Given the description of an element on the screen output the (x, y) to click on. 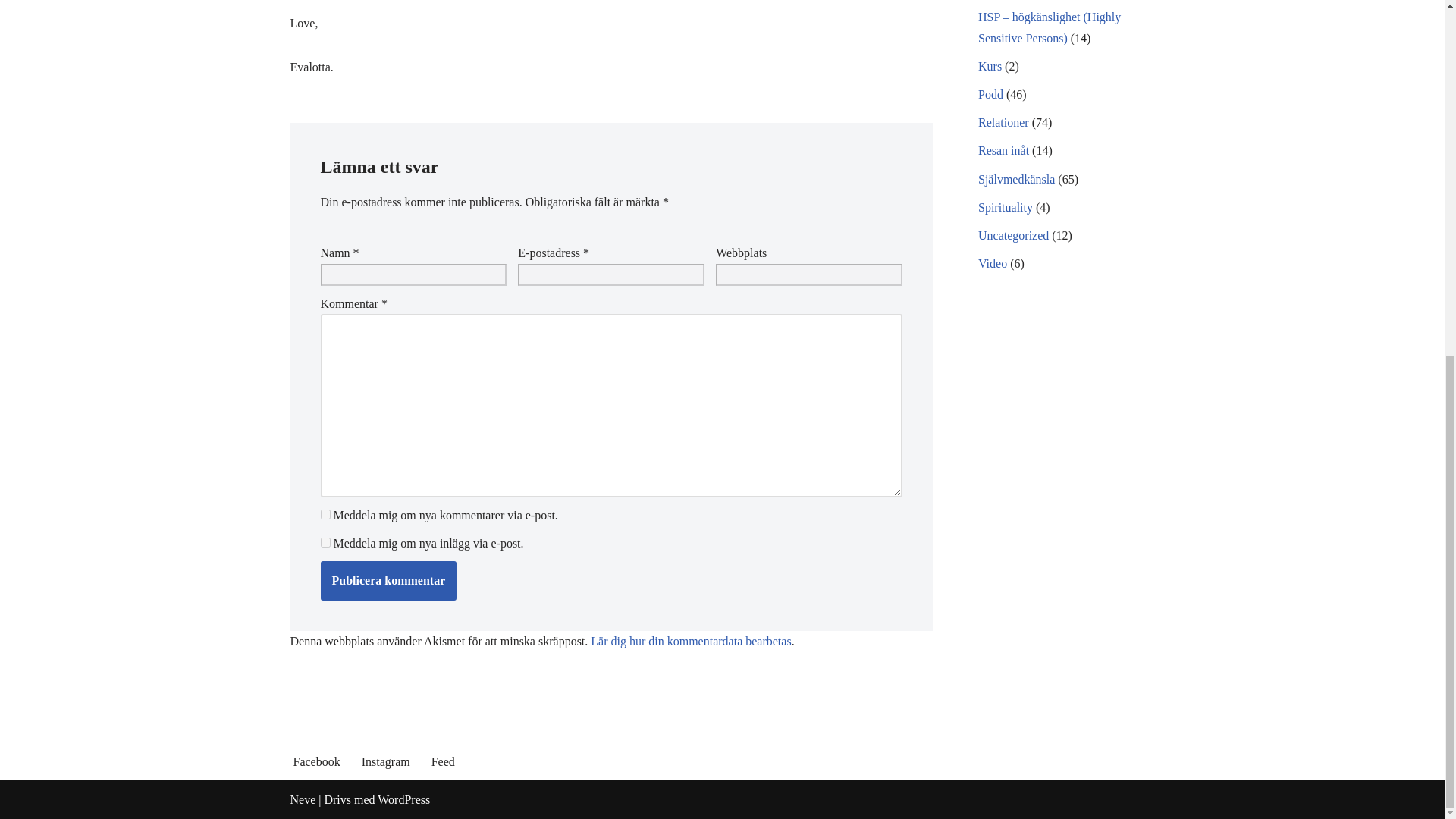
Publicera kommentar (388, 580)
subscribe (325, 542)
subscribe (325, 514)
